Given the description of an element on the screen output the (x, y) to click on. 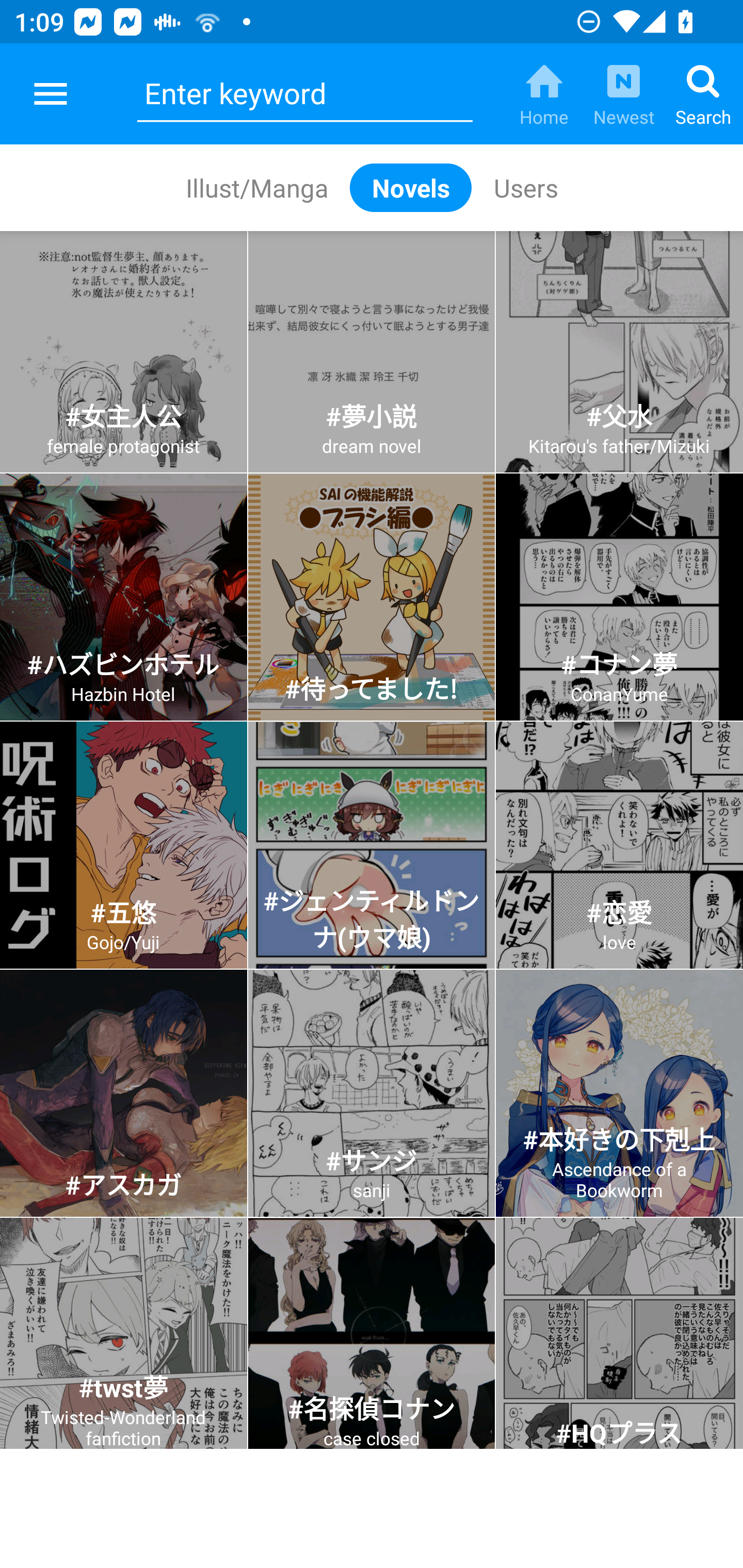
pixiv (50, 93)
Home (543, 93)
Newest (623, 93)
Enter keyword (304, 93)
Illust/Manga (256, 187)
Novels (410, 187)
Users (525, 187)
